Given the description of an element on the screen output the (x, y) to click on. 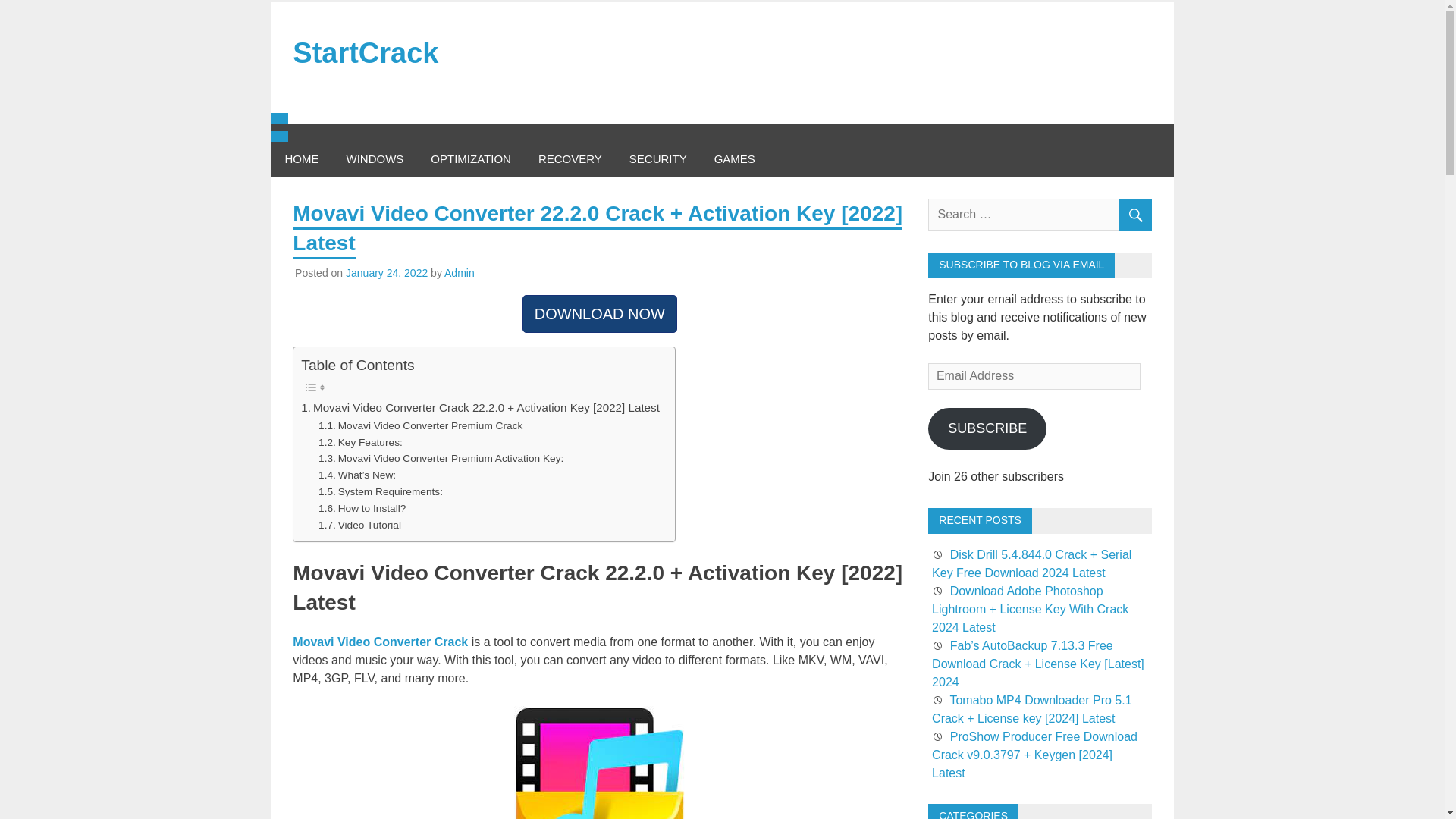
Movavi Video Converter Premium Crack (420, 425)
Movavi Video Converter Crack (379, 641)
RECOVERY (569, 159)
OPTIMIZATION (470, 159)
1:59 am (387, 272)
System Requirements: (380, 492)
System Requirements: (380, 492)
January 24, 2022 (387, 272)
Movavi Video Converter Premium Activation Key: (440, 458)
SUBSCRIBE (987, 428)
WINDOWS (373, 159)
Movavi Video Converter Premium Crack (420, 425)
View all posts by Admin (459, 272)
GAMES (734, 159)
Key Features: (360, 442)
